Given the description of an element on the screen output the (x, y) to click on. 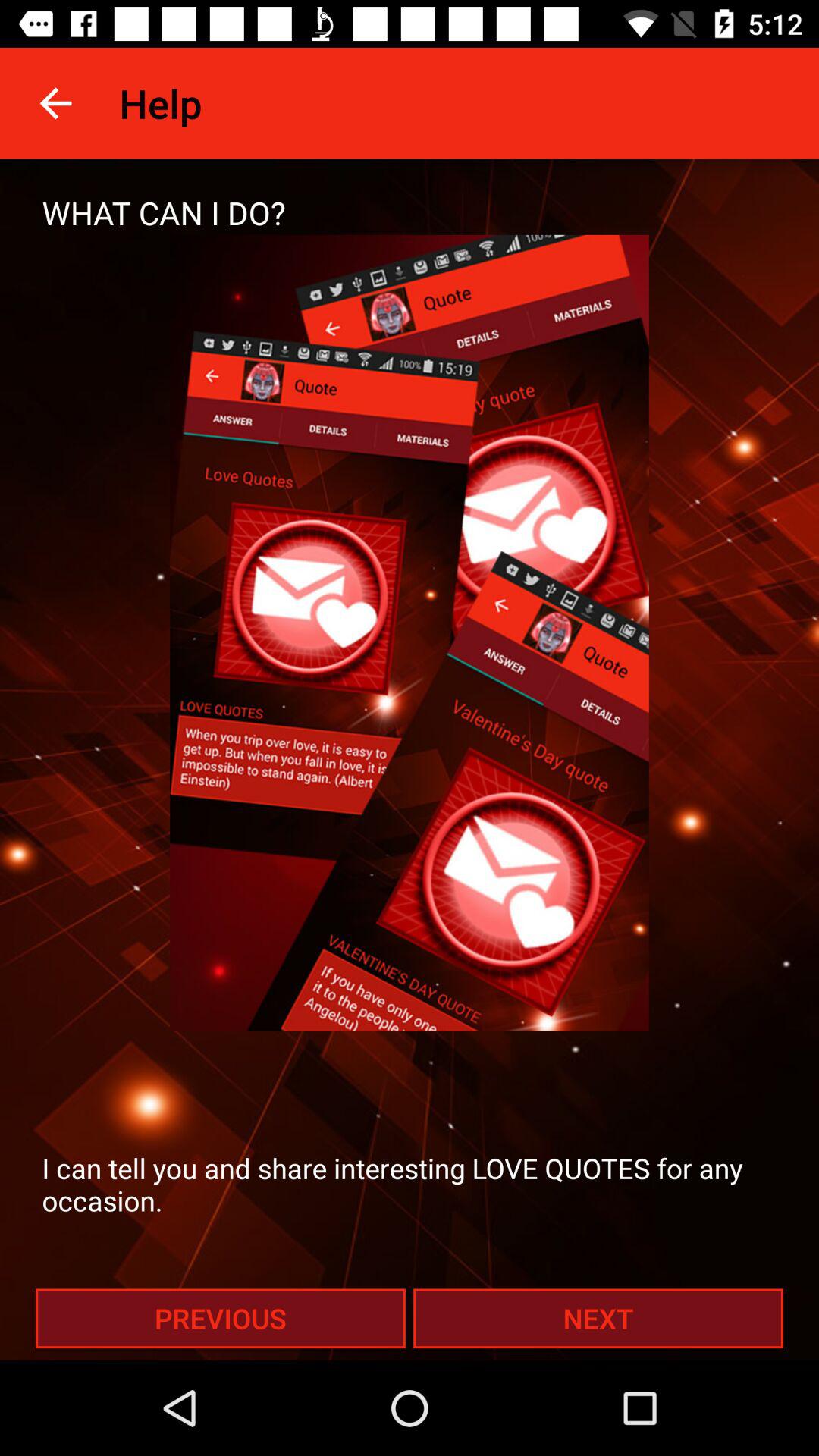
choose icon above the what can i item (55, 103)
